Given the description of an element on the screen output the (x, y) to click on. 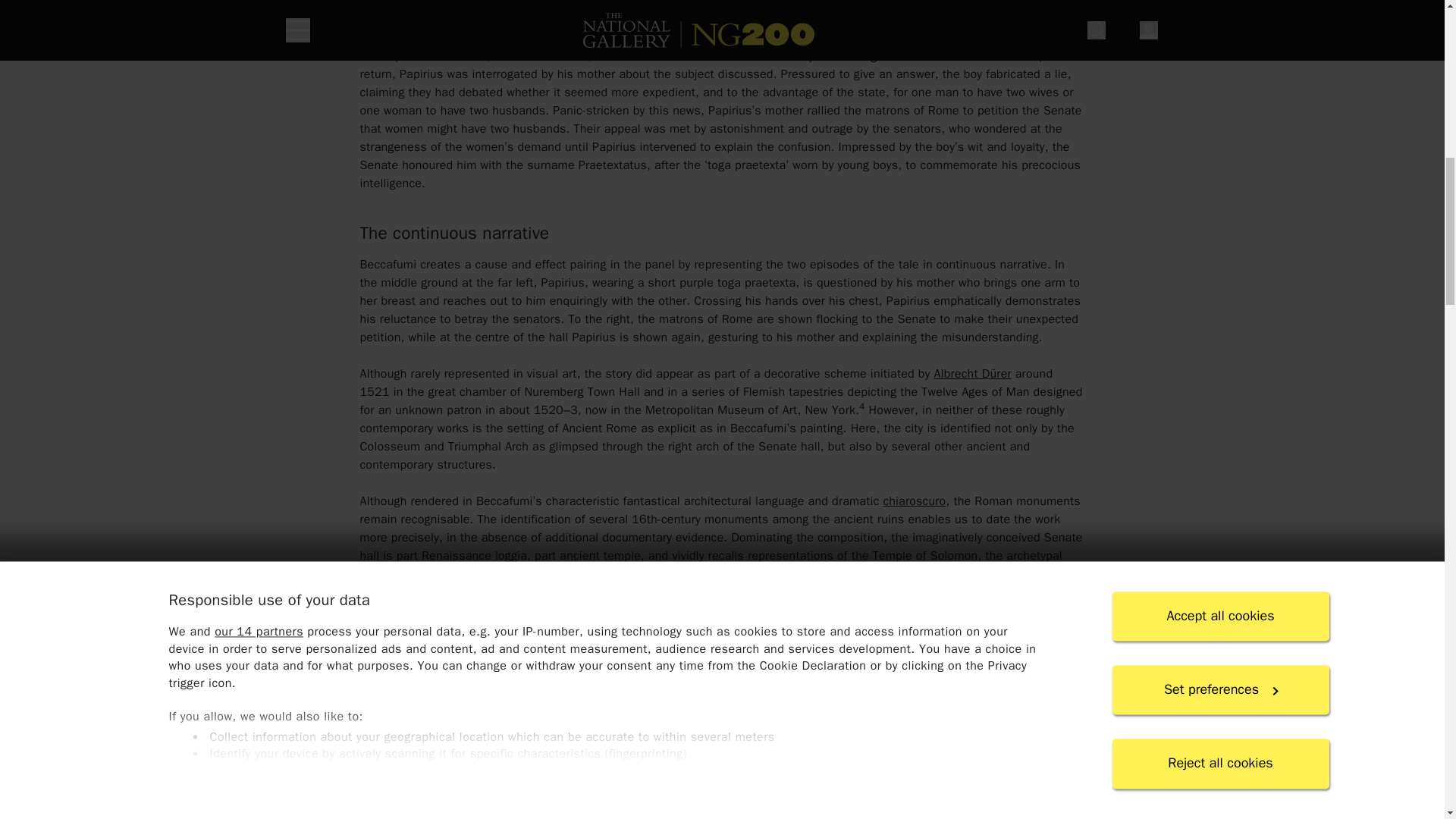
cookies policy (596, 15)
